Given the description of an element on the screen output the (x, y) to click on. 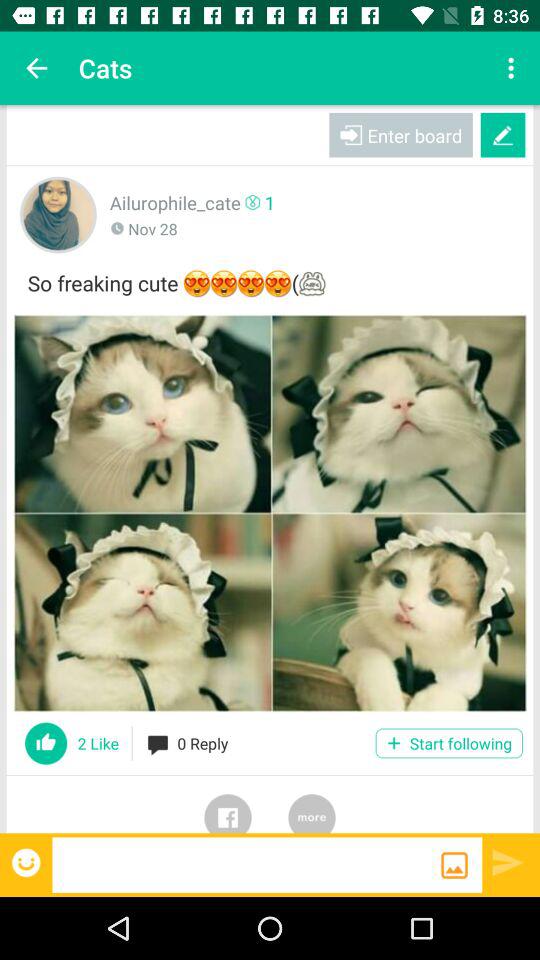
like this (46, 743)
